Given the description of an element on the screen output the (x, y) to click on. 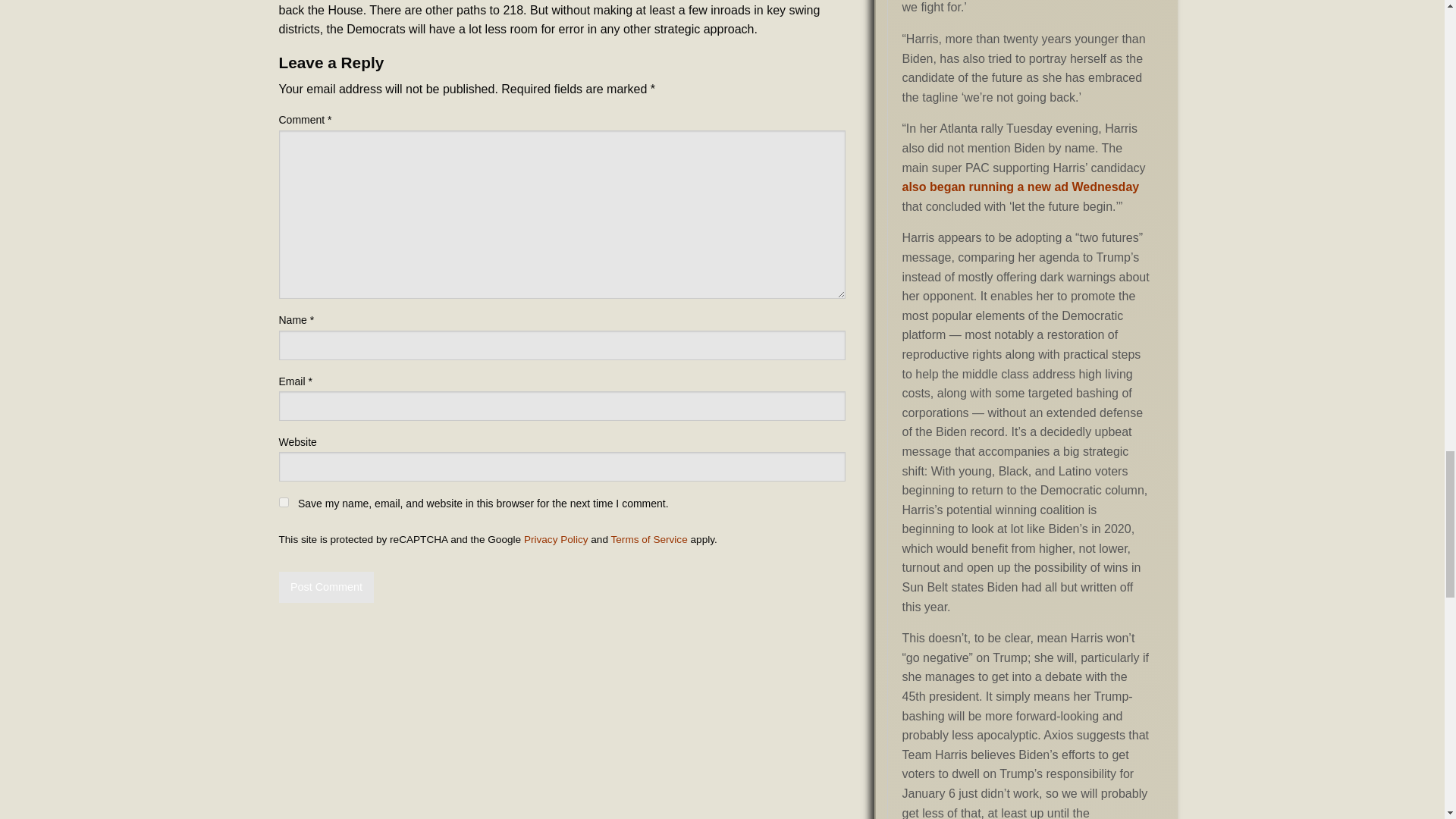
Post Comment (326, 586)
yes (283, 501)
Privacy Policy (556, 539)
Terms of Service (649, 539)
Post Comment (326, 586)
